Given the description of an element on the screen output the (x, y) to click on. 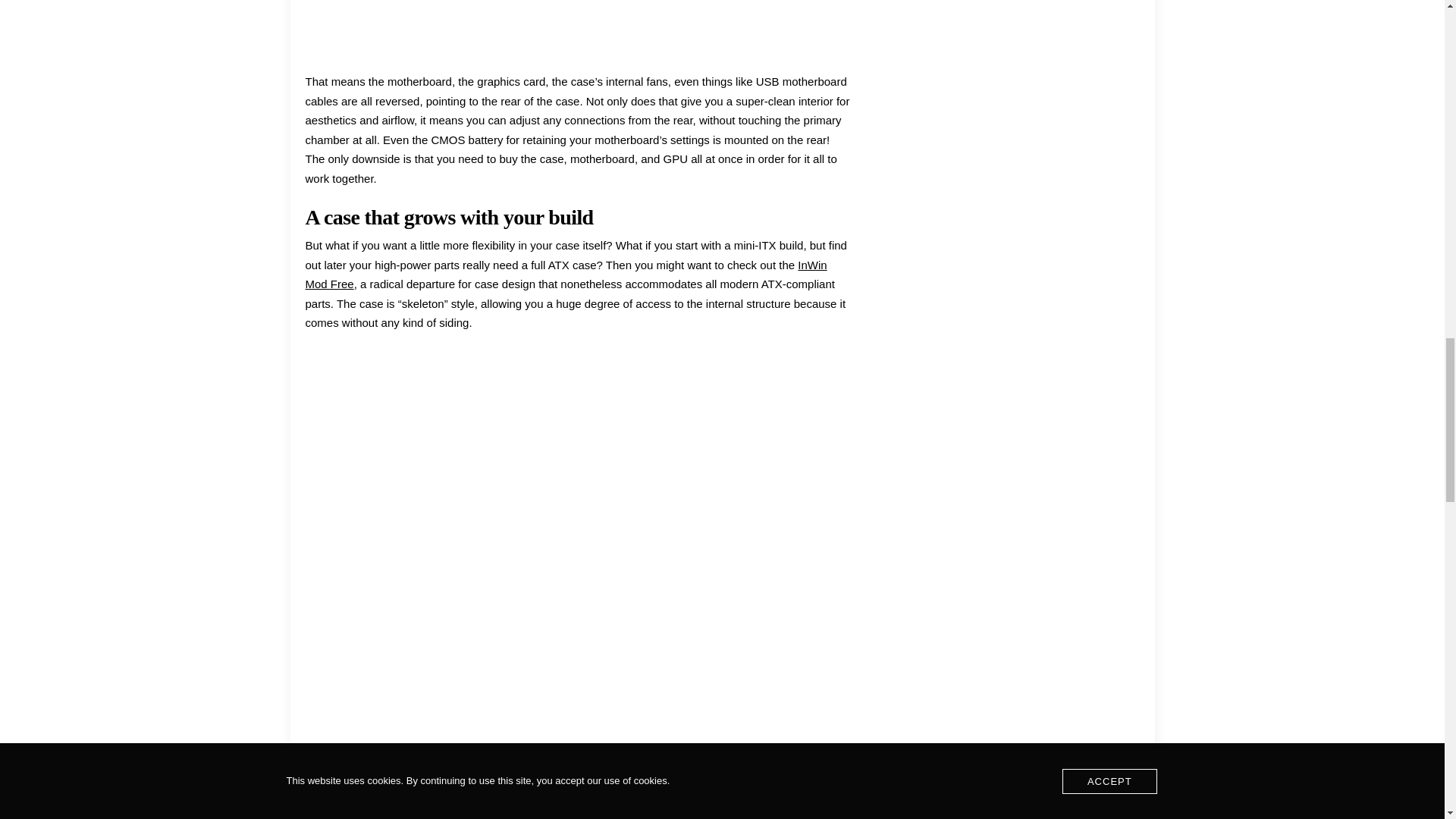
The No Wires PC - Now With More Airflow! (577, 6)
